Given the description of an element on the screen output the (x, y) to click on. 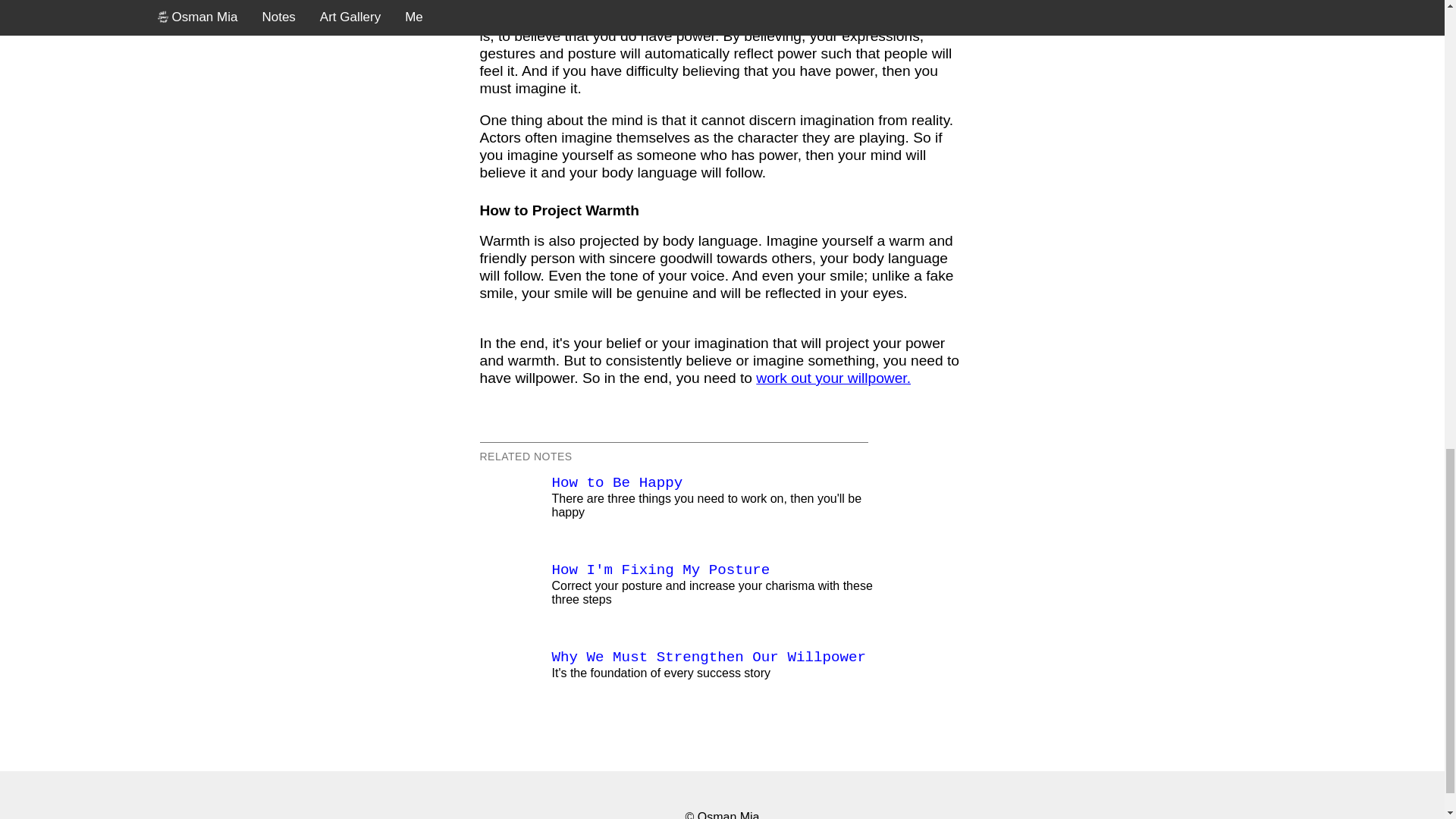
Why We Must Strengthen Our Willpower (708, 657)
How to Be Happy (616, 483)
work out your willpower. (833, 377)
How I'm Fixing My Posture (660, 569)
RELATED NOTES (525, 456)
